Given the description of an element on the screen output the (x, y) to click on. 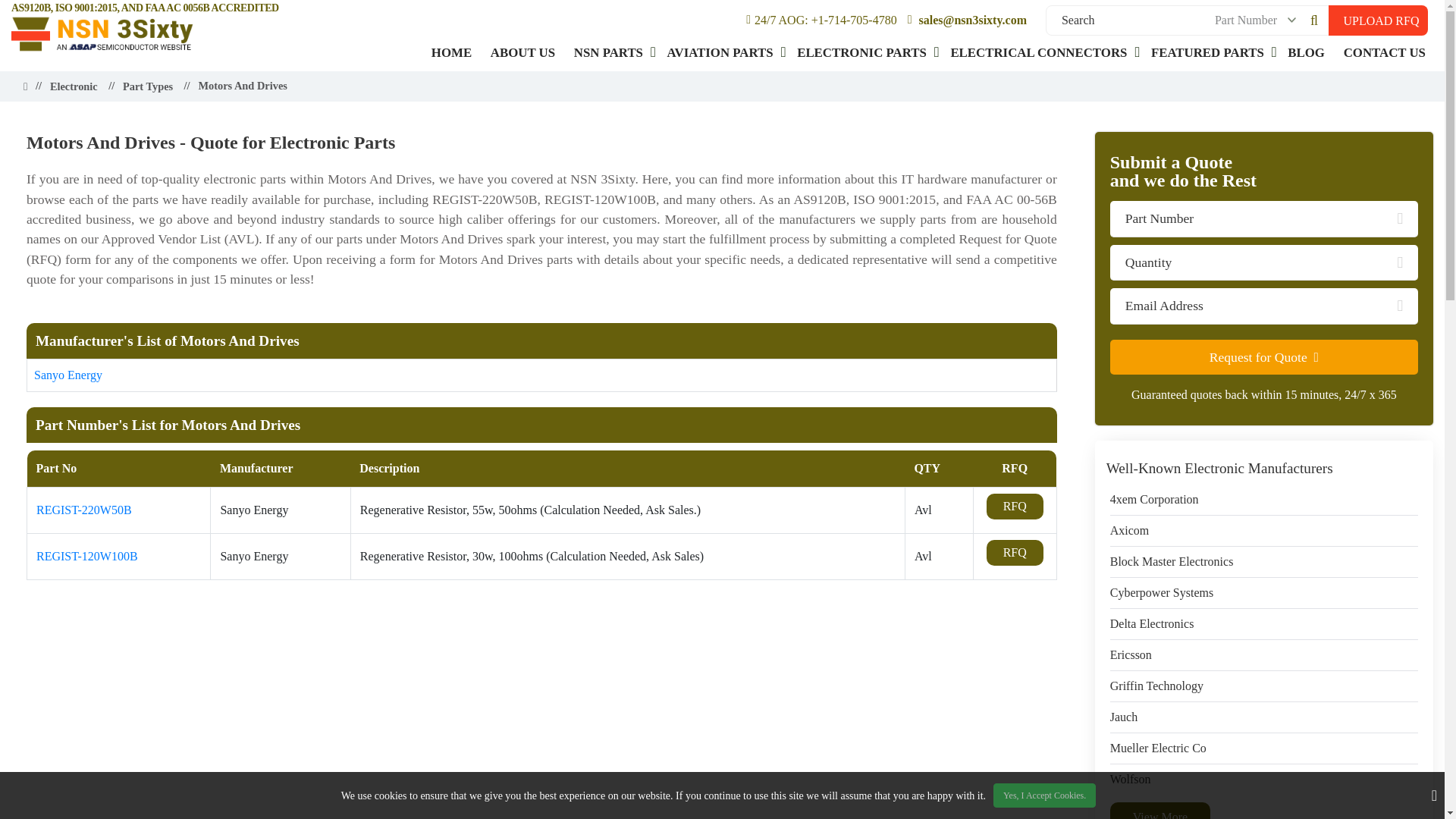
Cyberpower Systems (1160, 592)
Jauch (1123, 717)
ELECTRONIC PARTS (861, 52)
BLOG (1305, 52)
FEATURED PARTS (1206, 52)
Griffin Technology (1156, 686)
4Xem Corporation (1153, 499)
Ericsson (1130, 655)
Wolfson (1130, 779)
Axicom (1129, 530)
